Given the description of an element on the screen output the (x, y) to click on. 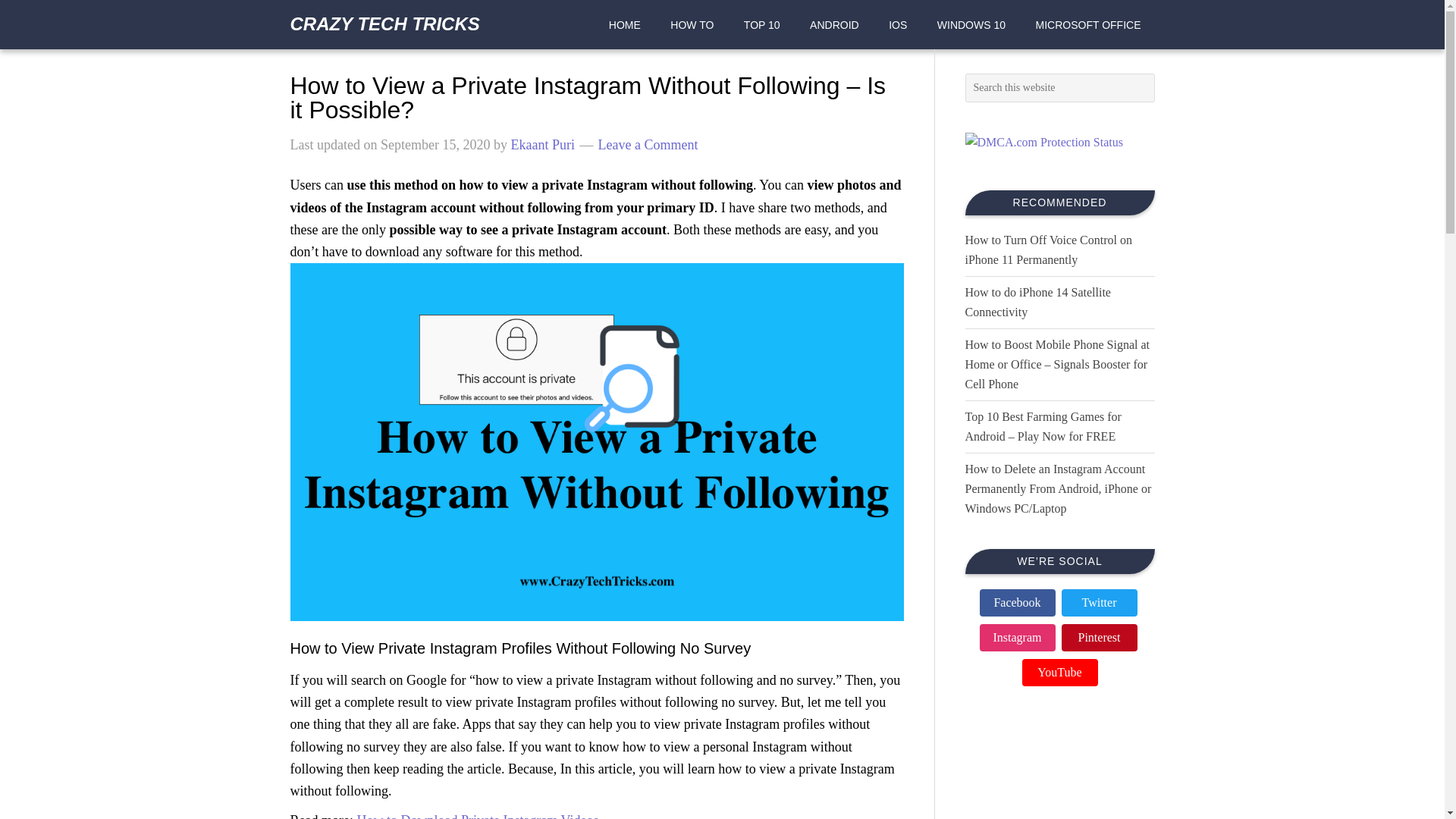
How to Turn Off Voice Control on iPhone 11 Permanently (1047, 249)
DMCA.com Protection Status (1042, 141)
How to Download Private Instagram Videos (477, 816)
TOP 10 (761, 24)
Ekaant Puri (542, 144)
IOS (897, 24)
YouTube (1059, 672)
CRAZY TECH TRICKS (384, 23)
WINDOWS 10 (971, 24)
